Given the description of an element on the screen output the (x, y) to click on. 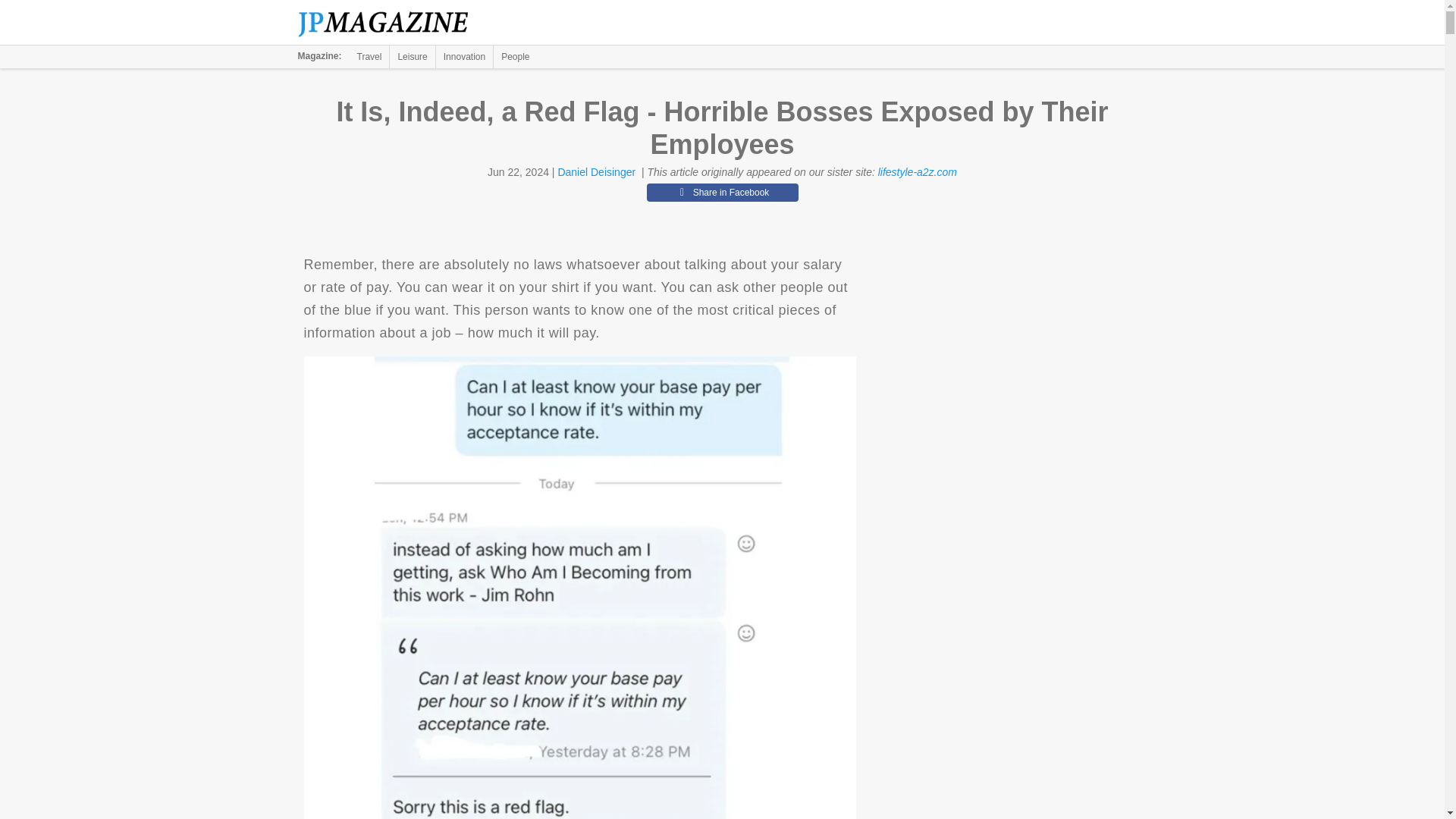
Innovation (464, 56)
Leisure (411, 56)
Share in Facebook (721, 192)
Daniel Deisinger (595, 172)
The Jerusalem Post Magazine (391, 22)
Travel (369, 56)
People (515, 56)
lifestyle-a2z.com (916, 172)
